Given the description of an element on the screen output the (x, y) to click on. 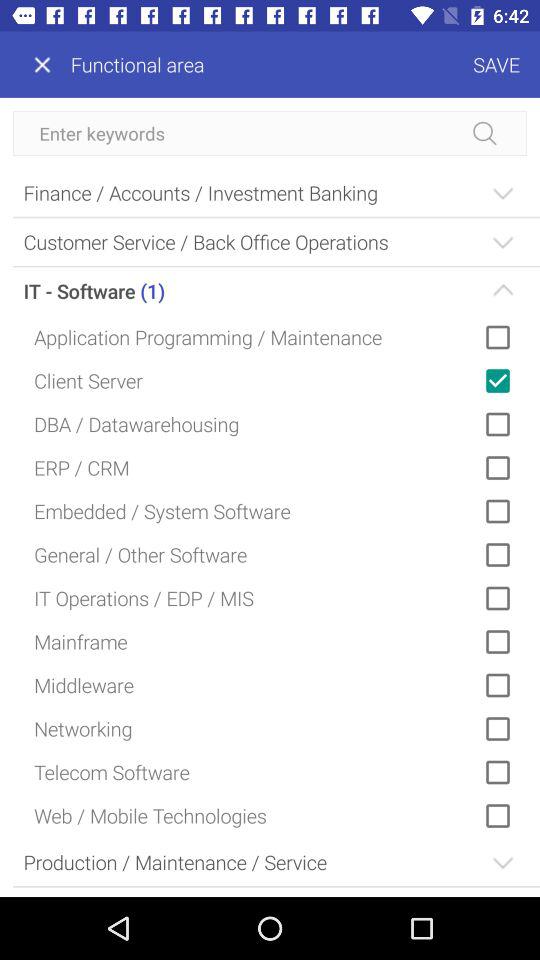
flip to the save (372, 64)
